Given the description of an element on the screen output the (x, y) to click on. 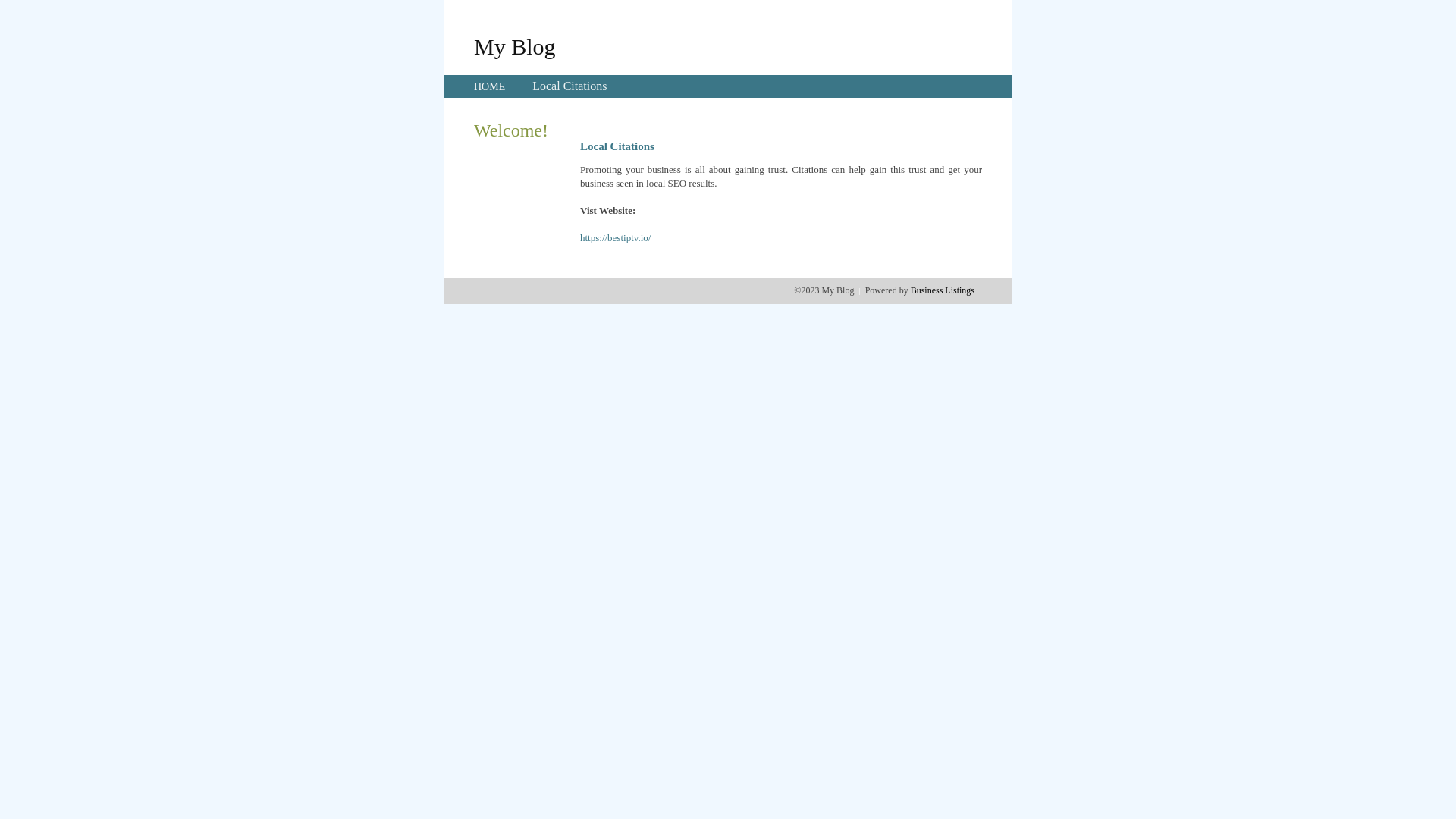
HOME Element type: text (489, 86)
Business Listings Element type: text (942, 290)
Local Citations Element type: text (569, 85)
My Blog Element type: text (514, 46)
https://bestiptv.io/ Element type: text (615, 237)
